Given the description of an element on the screen output the (x, y) to click on. 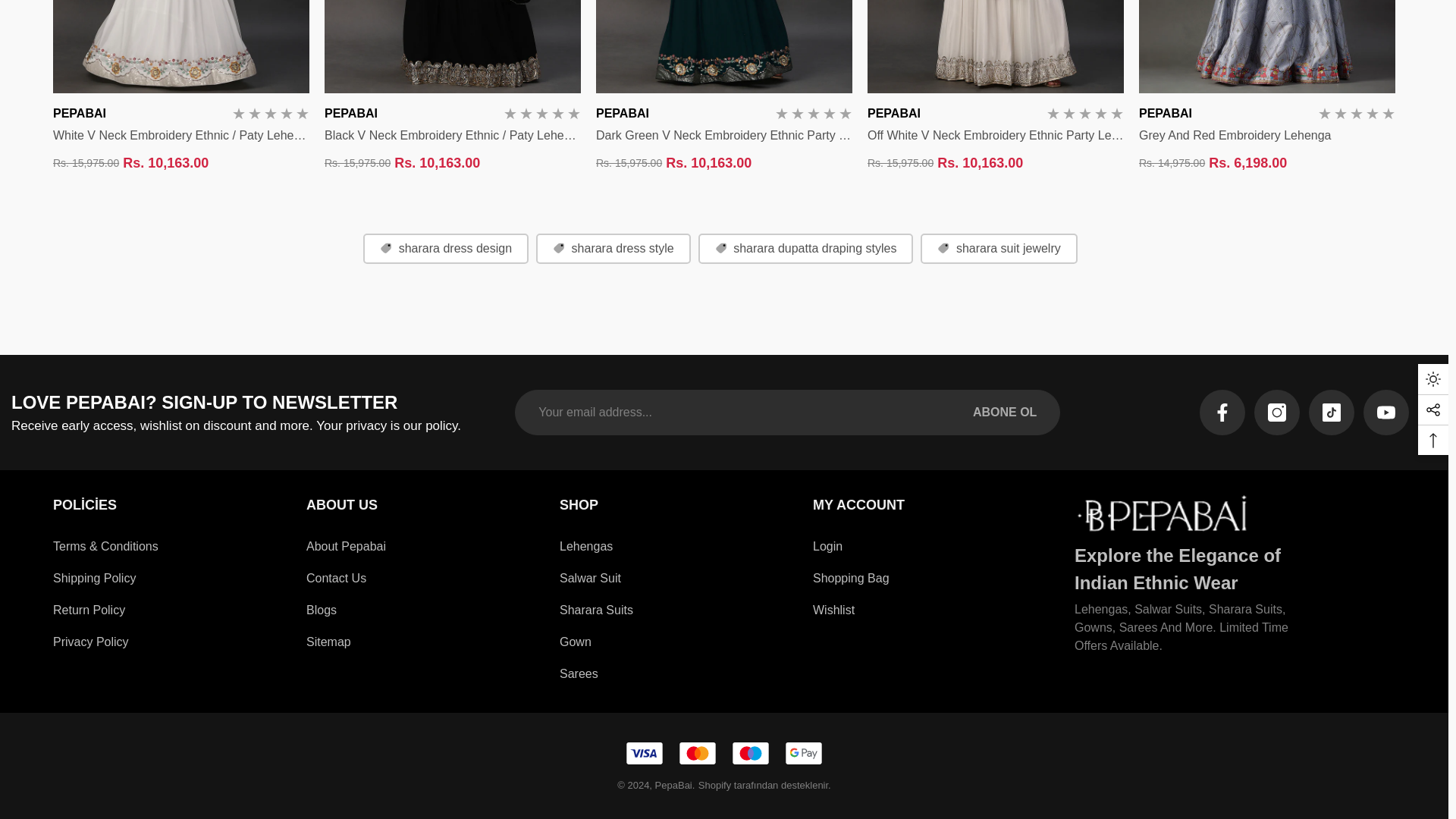
PEPABAI (350, 113)
PEPABAI (350, 113)
PEPABAI (79, 113)
PepaBai (1163, 511)
PEPABAI (79, 113)
PEPABAI (893, 113)
PEPABAI (622, 113)
PEPABAI (893, 113)
PEPABAI (1165, 113)
Dark Green V Neck Embroidery Ethnic Party Lehenga (723, 135)
PEPABAI (622, 113)
